Given the description of an element on the screen output the (x, y) to click on. 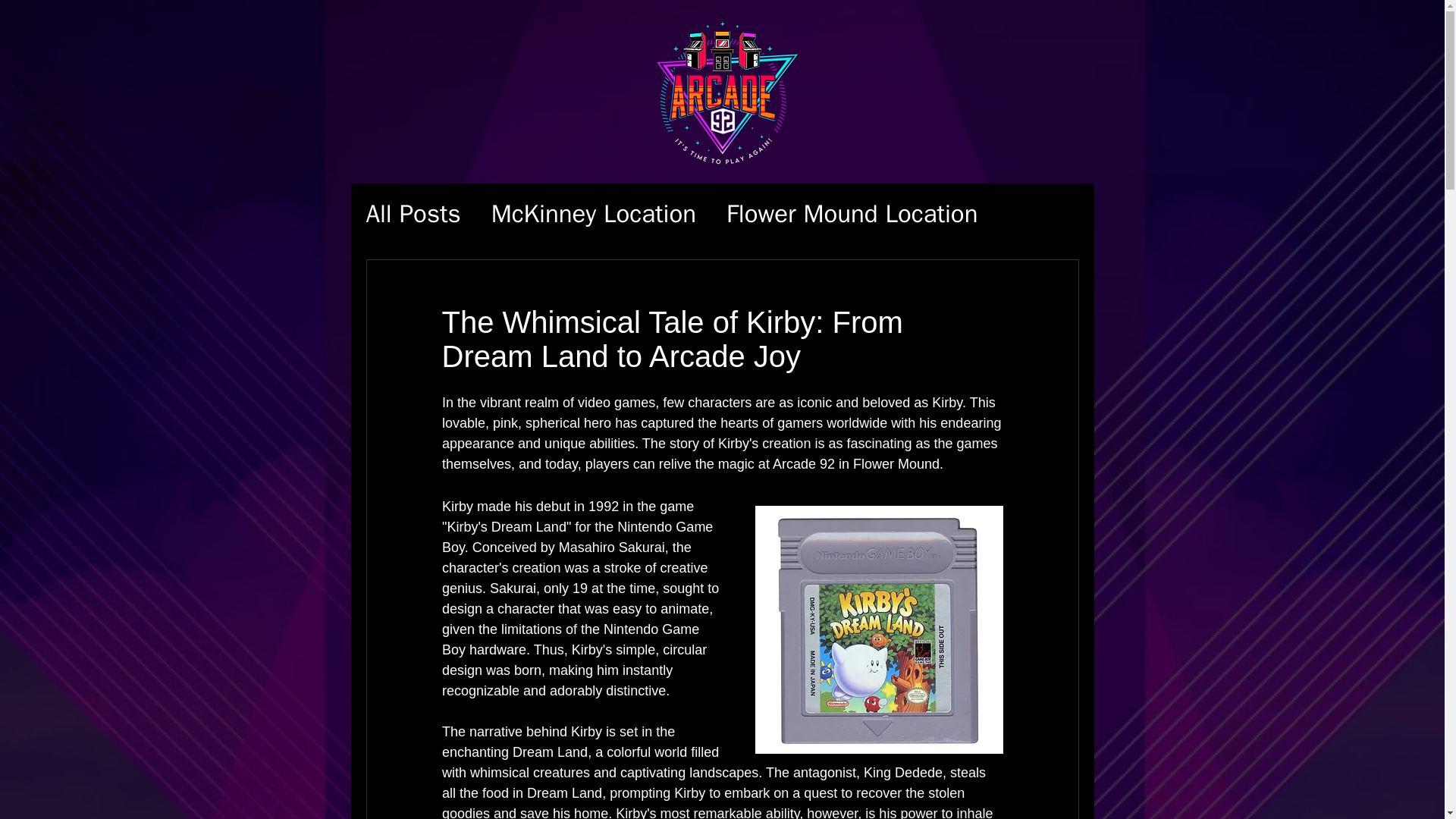
McKinney Location (593, 213)
All Posts (412, 213)
Flower Mound Location (851, 213)
